Given the description of an element on the screen output the (x, y) to click on. 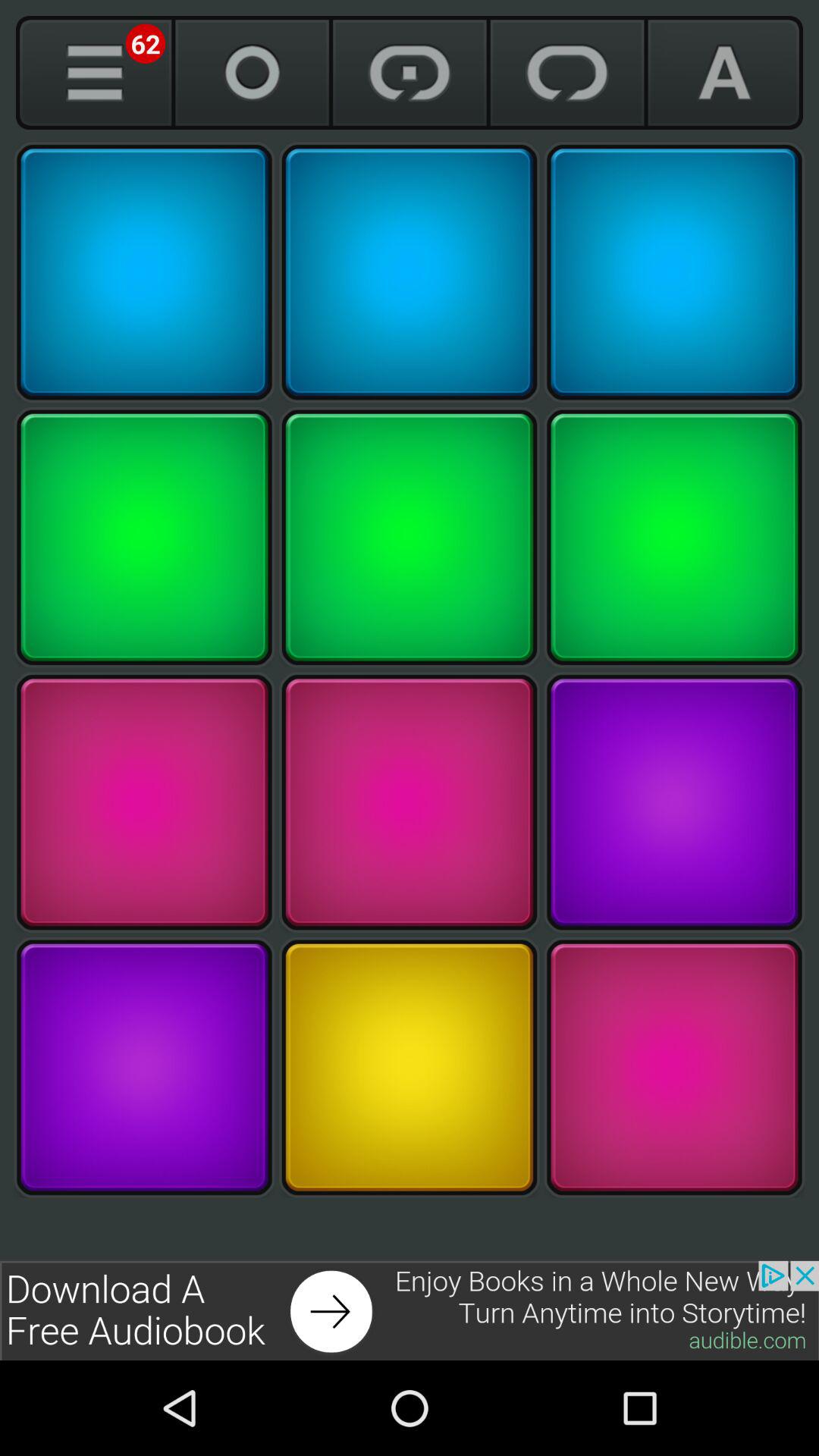
tap button (144, 802)
